Given the description of an element on the screen output the (x, y) to click on. 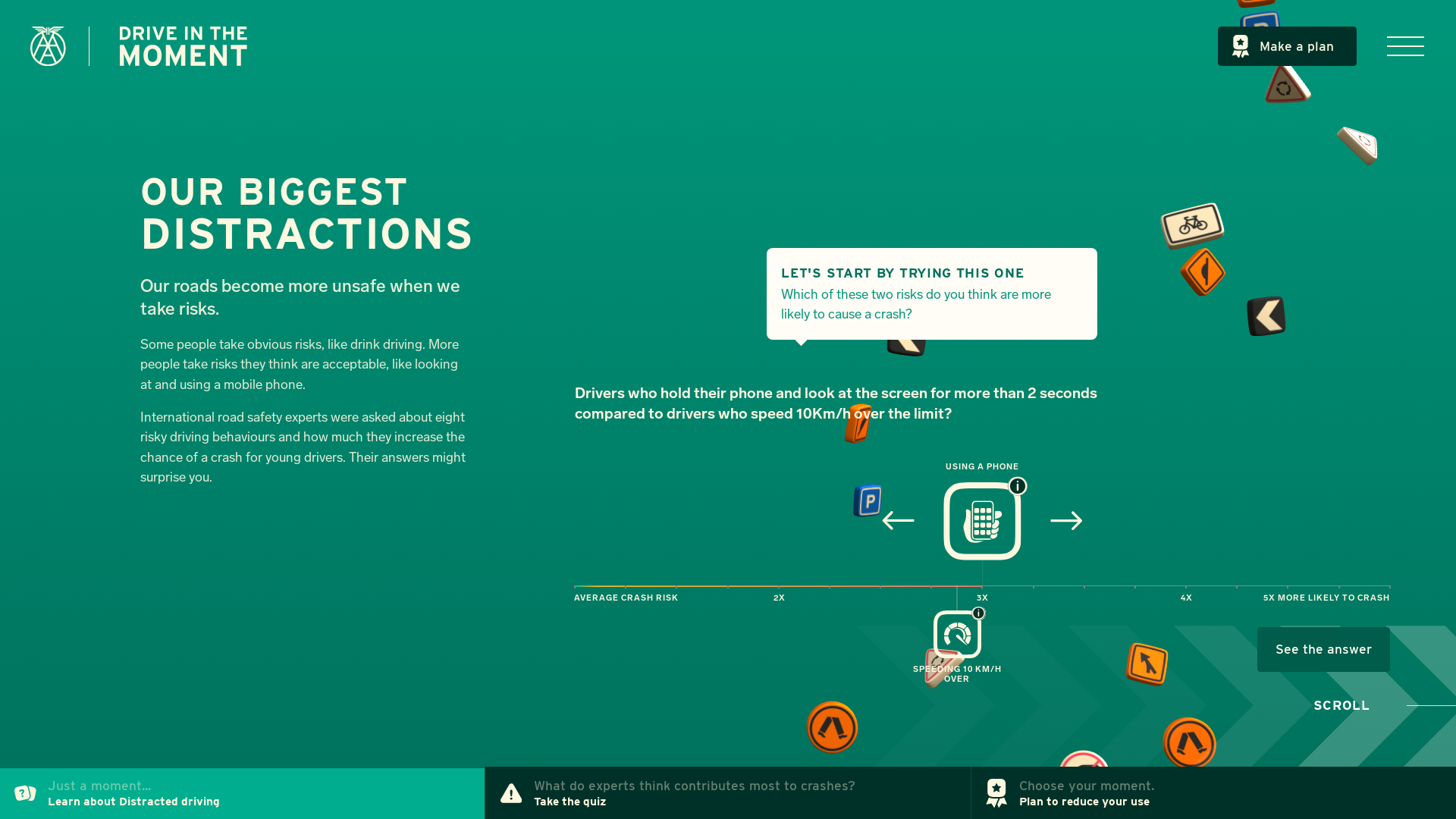
See the answer Element type: text (1323, 649)
SCROLL Element type: text (1344, 704)
Open menu Element type: hover (1404, 45)
Make a plan Element type: text (1287, 45)
